Given the description of an element on the screen output the (x, y) to click on. 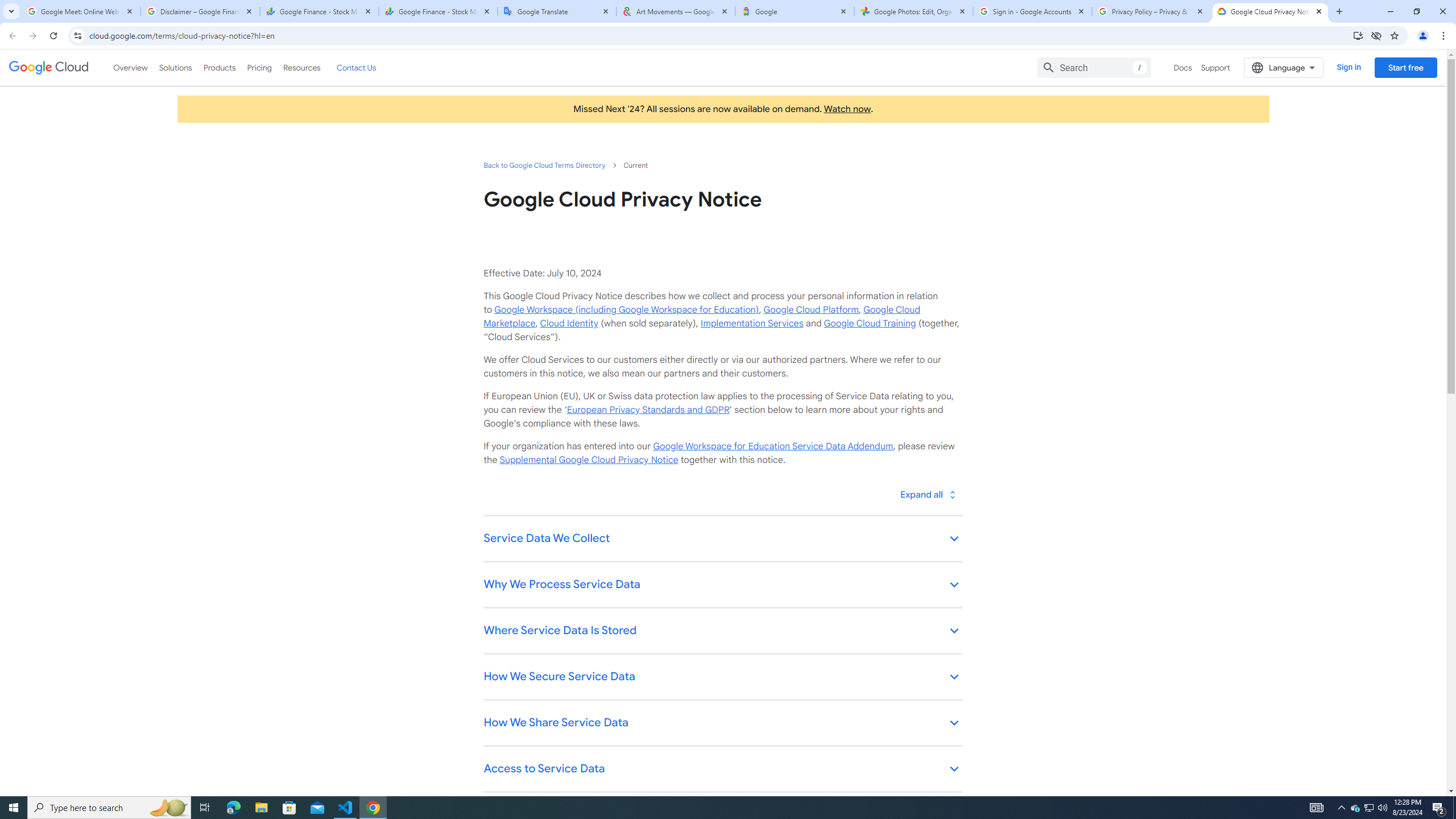
Toggle all (927, 493)
Resources (301, 67)
Products (218, 67)
Where Service Data Is Stored keyboard_arrow_down (722, 631)
Back to Google Cloud Terms Directory (544, 165)
Contact Us (355, 67)
How We Share Service Data keyboard_arrow_down (722, 723)
Google Workspace (including Google Workspace for Education) (625, 309)
Language (1283, 67)
